Given the description of an element on the screen output the (x, y) to click on. 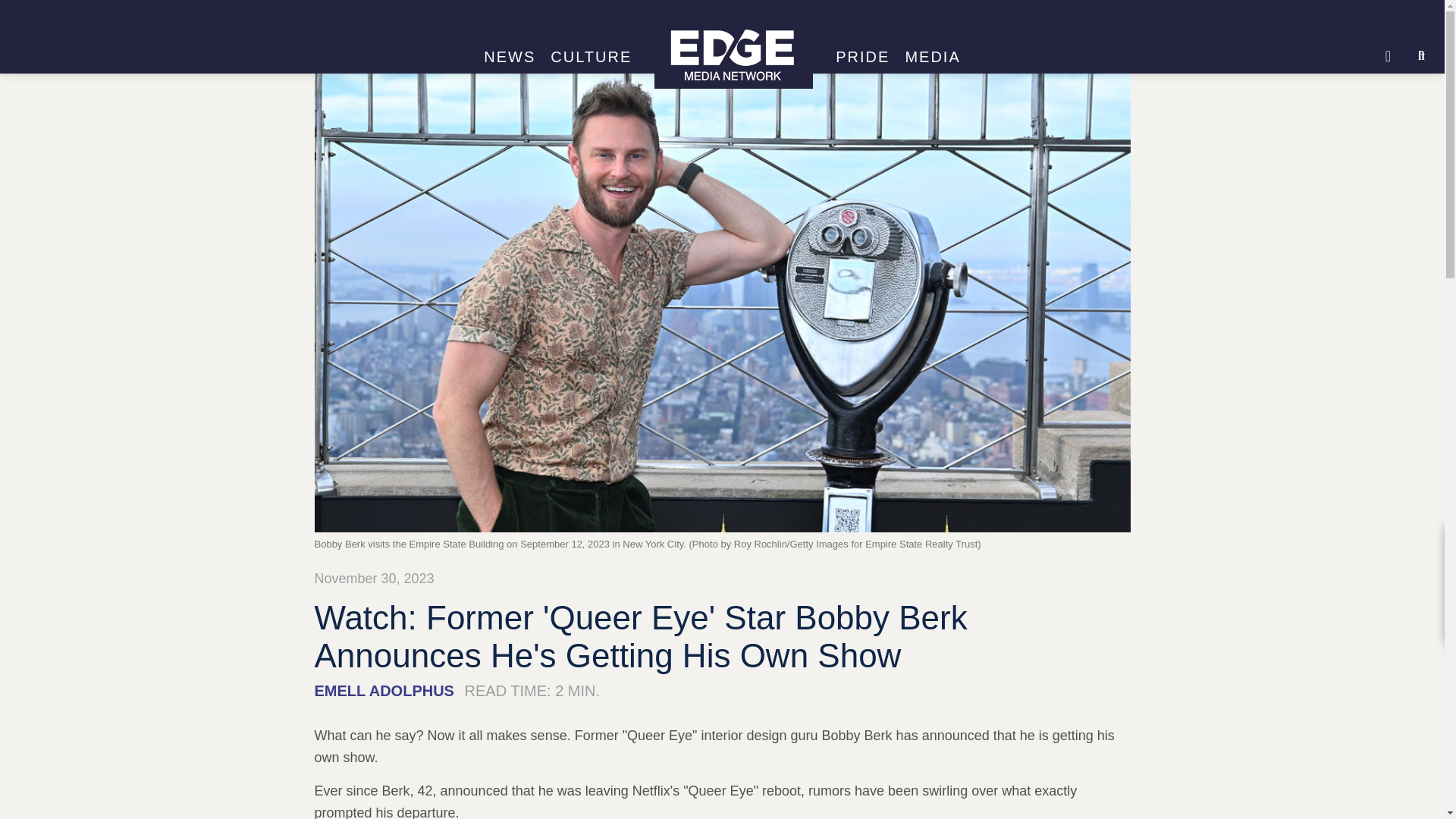
MEDIA (932, 57)
NEWS (509, 57)
PRIDE (862, 57)
CULTURE (591, 57)
